Given the description of an element on the screen output the (x, y) to click on. 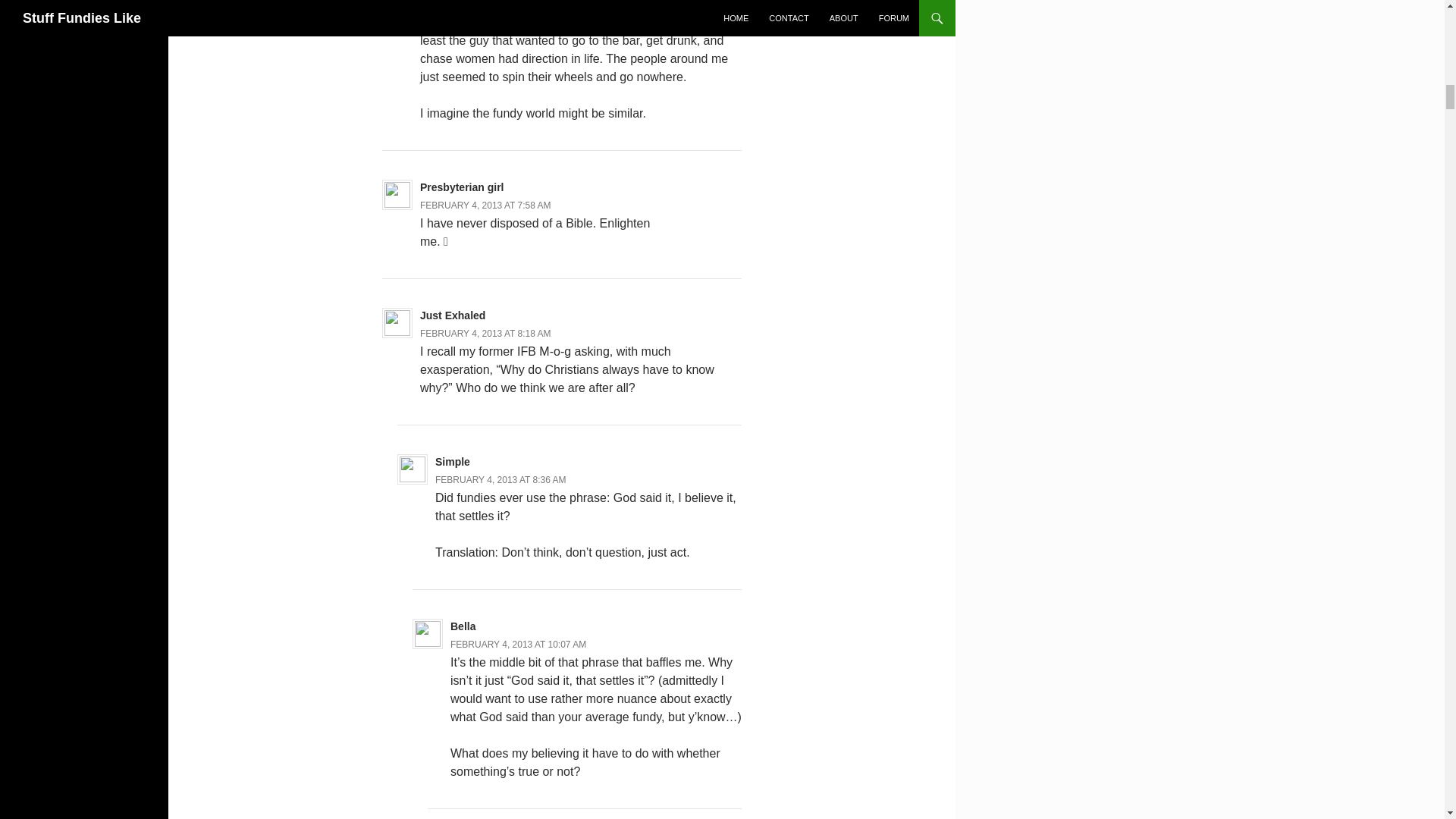
FEBRUARY 4, 2013 AT 7:58 AM (485, 204)
FEBRUARY 4, 2013 AT 10:07 AM (517, 644)
FEBRUARY 4, 2013 AT 8:36 AM (500, 480)
FEBRUARY 4, 2013 AT 8:18 AM (485, 333)
